Given the description of an element on the screen output the (x, y) to click on. 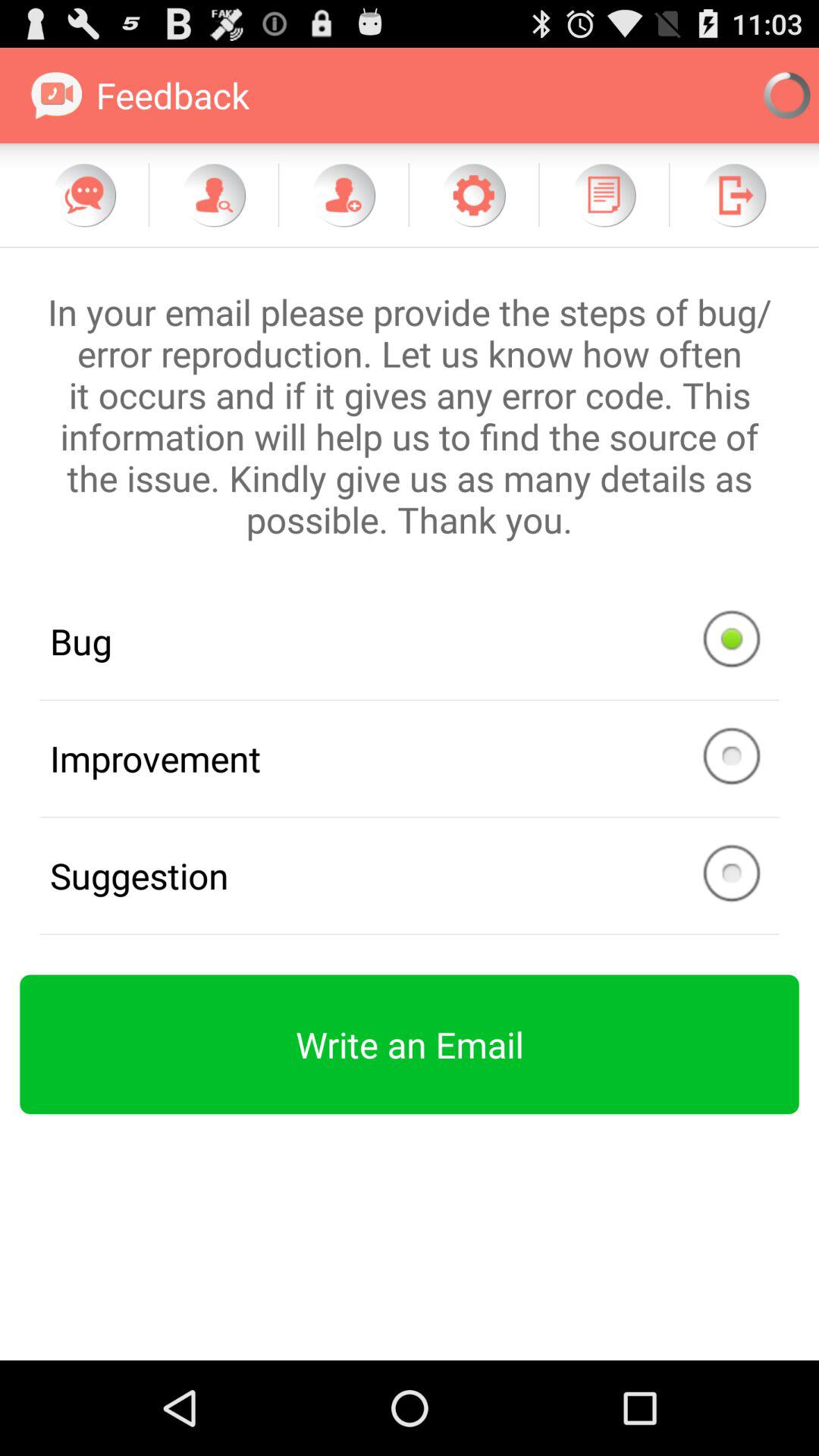
select the radio button below the improvement item (409, 875)
